Given the description of an element on the screen output the (x, y) to click on. 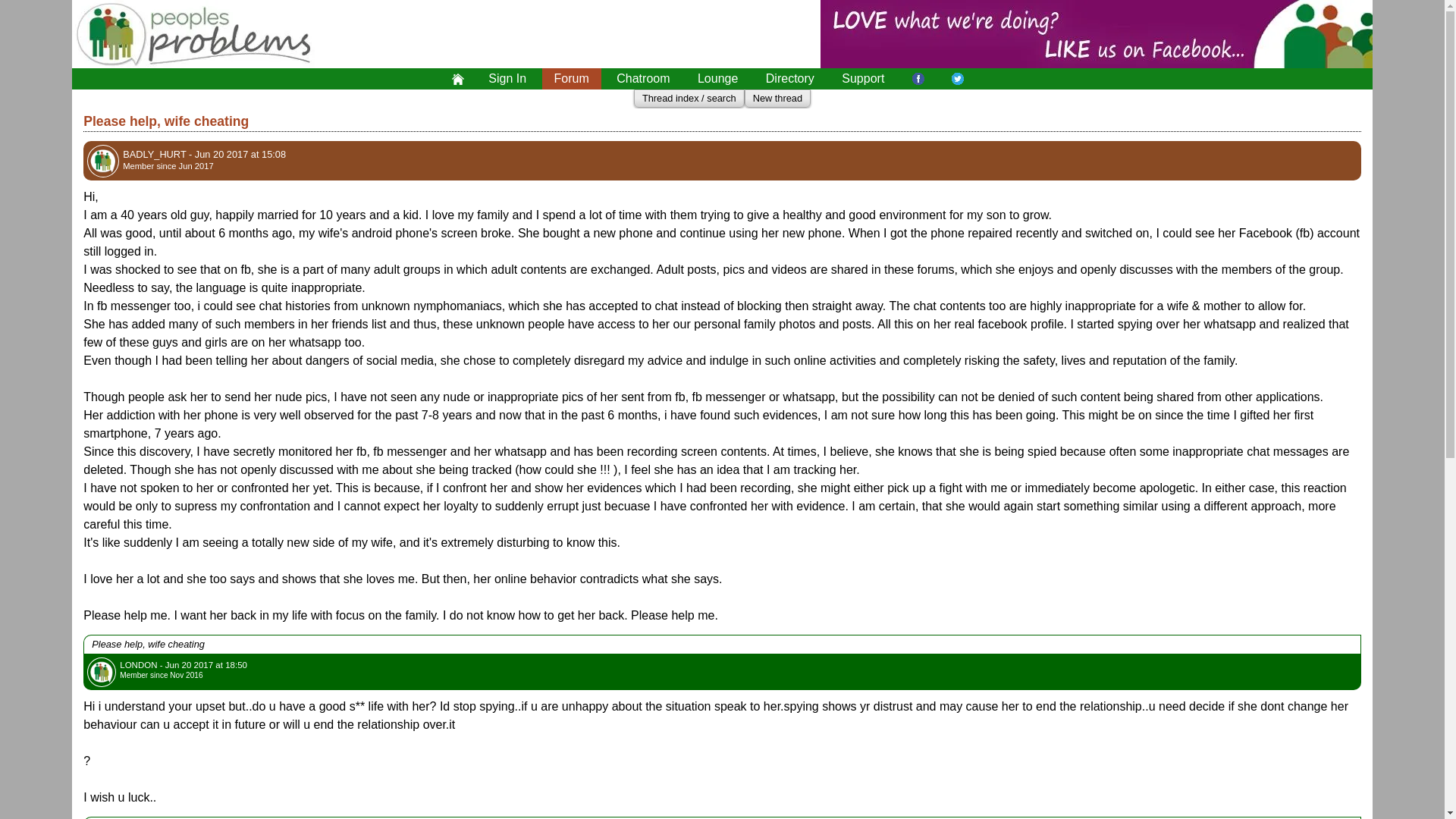
Lounge (717, 78)
Directory (790, 78)
Forum (571, 78)
Chatroom (642, 78)
Support (862, 78)
Sign In (507, 78)
New thread (777, 98)
